Given the description of an element on the screen output the (x, y) to click on. 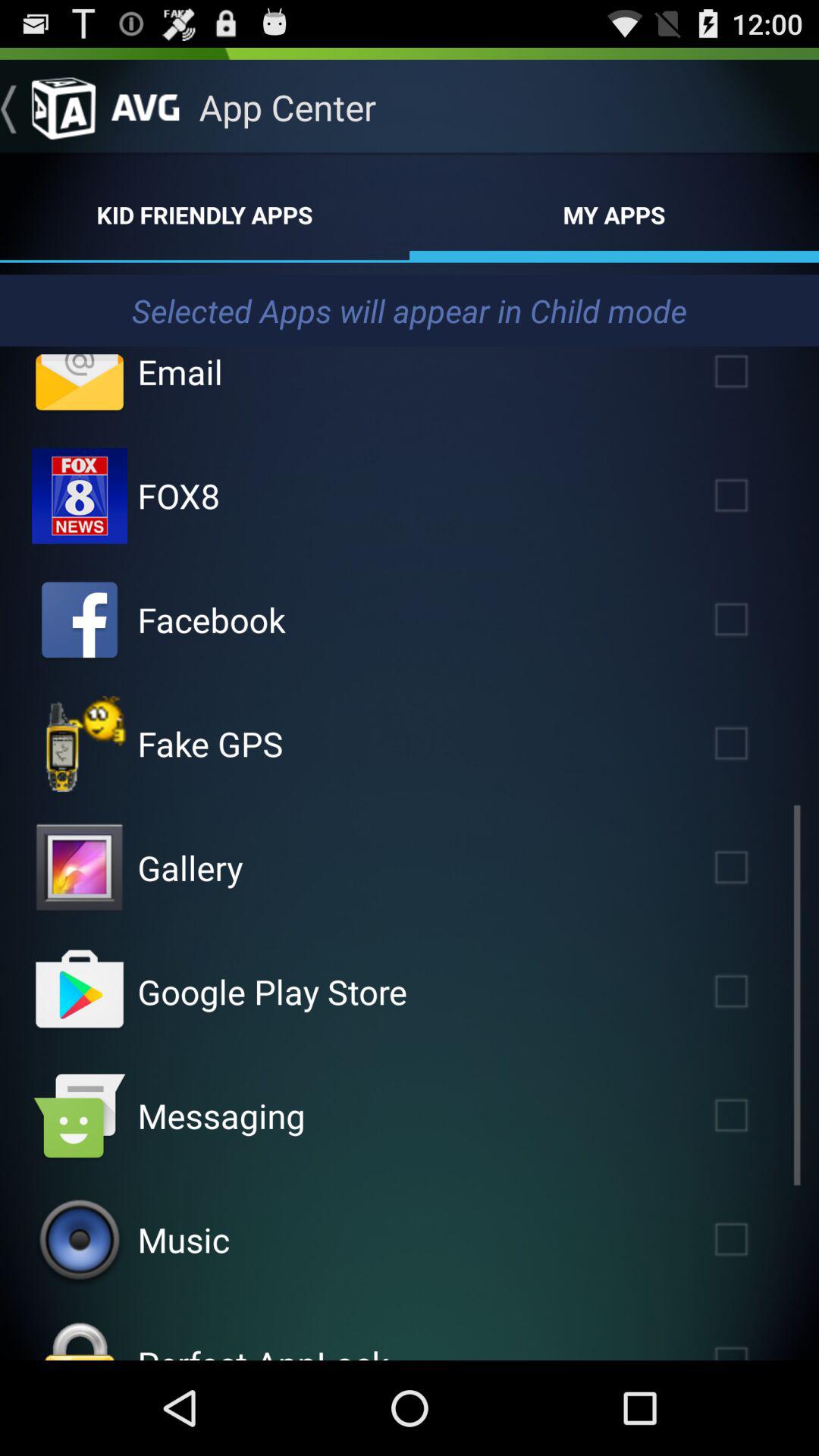
select gallery (753, 867)
